Given the description of an element on the screen output the (x, y) to click on. 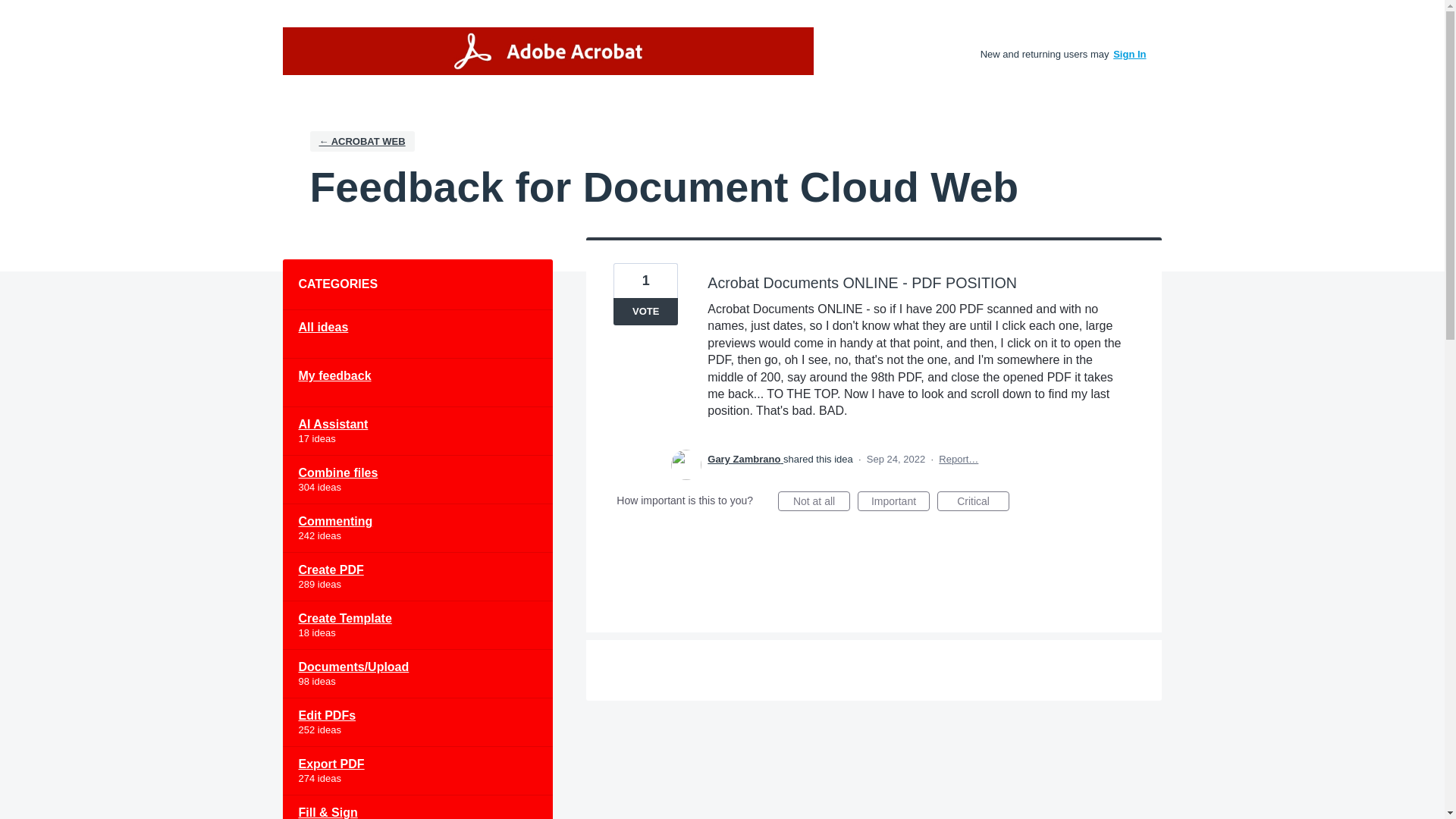
Commenting (417, 528)
All ideas (417, 334)
Combine files (417, 479)
View all ideas in category Edit PDFs (417, 722)
Export PDF (417, 770)
View all ideas in category Commenting (417, 528)
Share your feedback on Acrobat DC (547, 51)
Edit PDFs (417, 722)
AI Assistant (417, 431)
View all ideas in category Export PDF (417, 770)
